Given the description of an element on the screen output the (x, y) to click on. 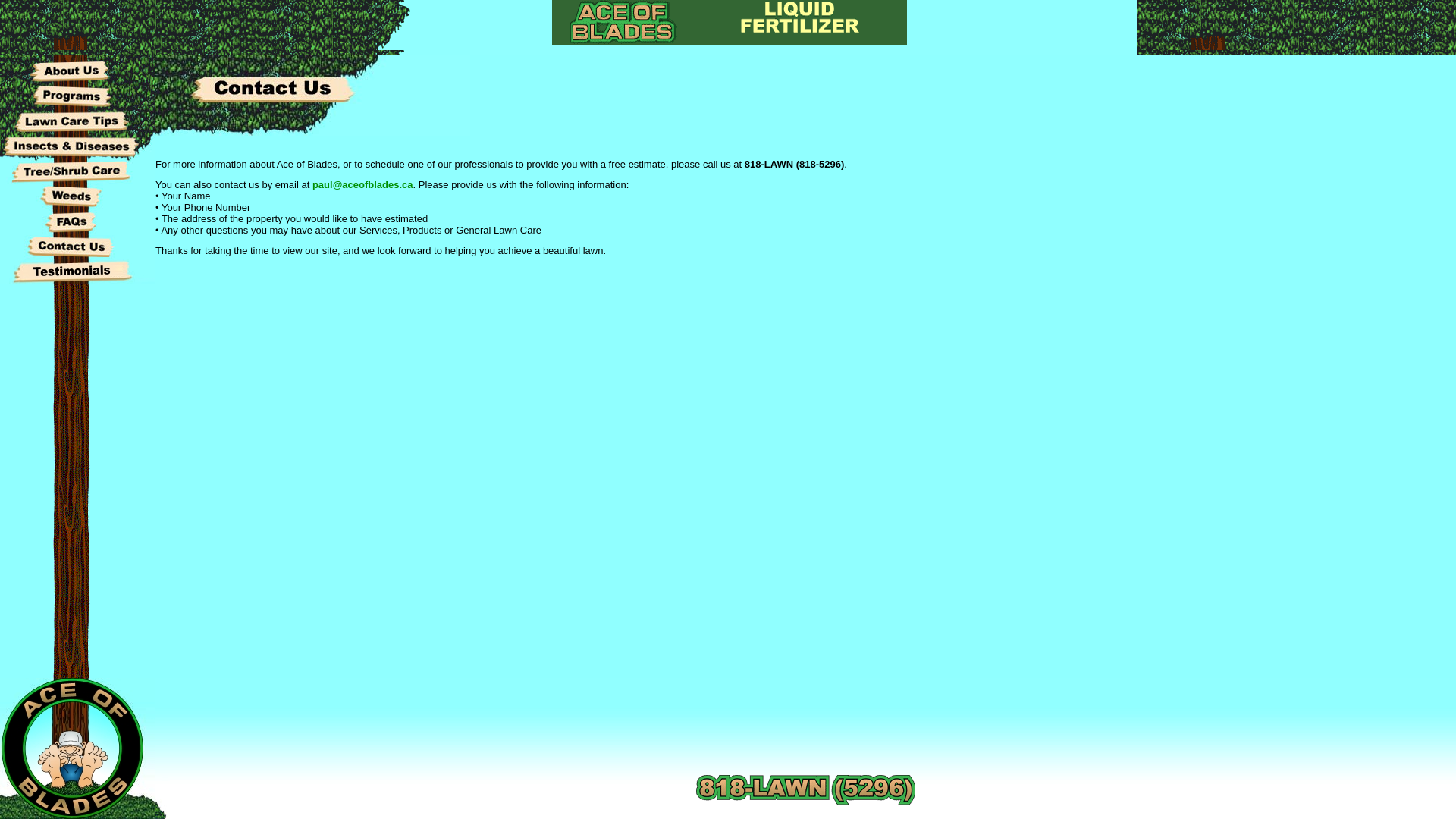
paul@aceofblades.ca Element type: text (362, 184)
